Given the description of an element on the screen output the (x, y) to click on. 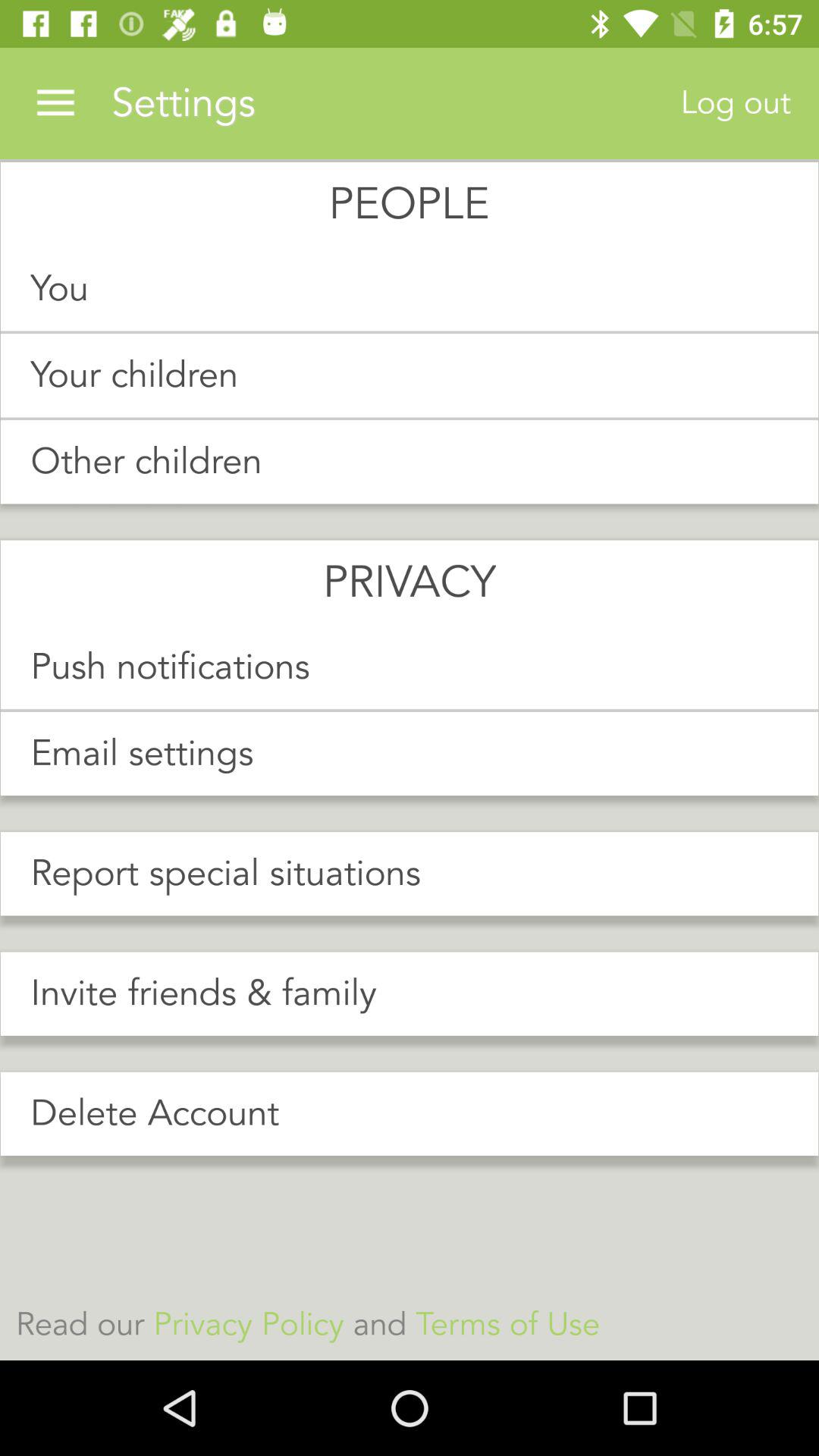
tap the icon to the left of the settings icon (55, 103)
